Given the description of an element on the screen output the (x, y) to click on. 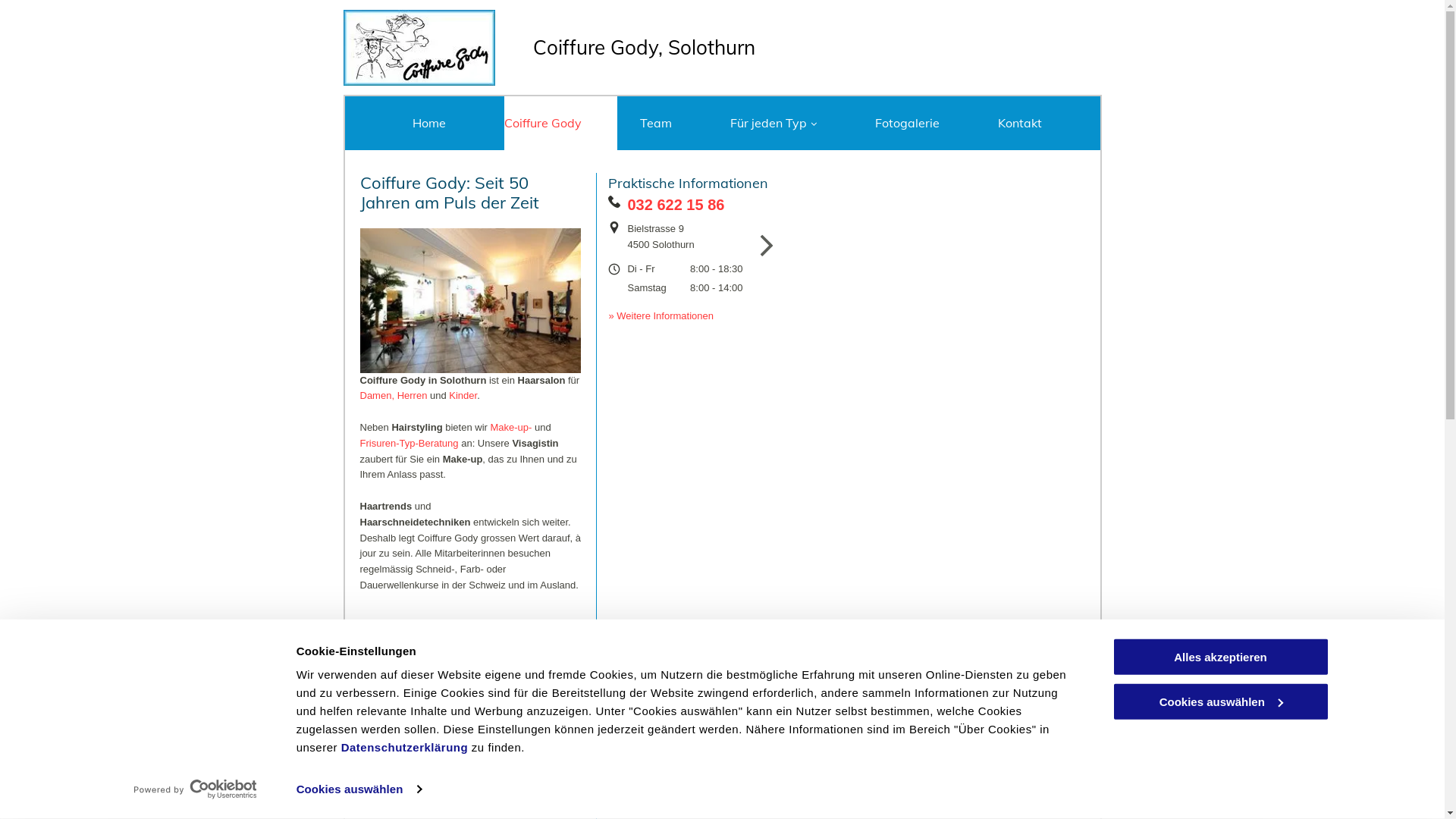
Frisuren-Typ-Beratung Element type: text (408, 442)
Fotogalerie Element type: text (925, 123)
Home Element type: text (446, 123)
Team Element type: text (673, 123)
Alles akzeptieren Element type: text (1219, 656)
032 622 15 86 Element type: text (675, 204)
Damen, Herren Element type: text (392, 395)
Make-up- Element type: text (510, 427)
Coiffure Gody, Solothurn Element type: text (643, 46)
Kontakt Element type: text (1037, 123)
Coiffure Gody Element type: text (559, 123)
Kinder Element type: text (462, 395)
